Given the description of an element on the screen output the (x, y) to click on. 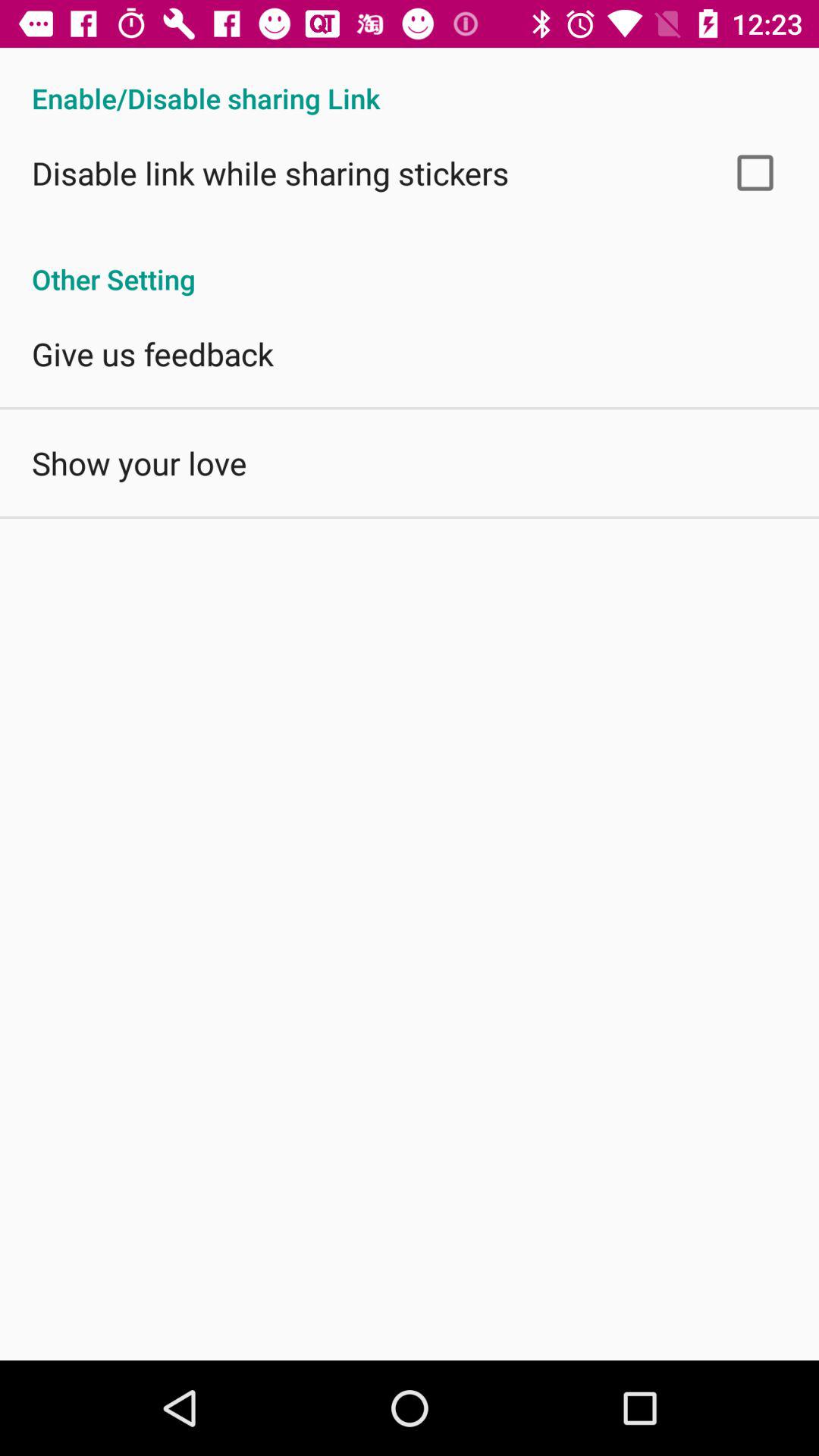
choose icon below the other setting app (152, 353)
